Given the description of an element on the screen output the (x, y) to click on. 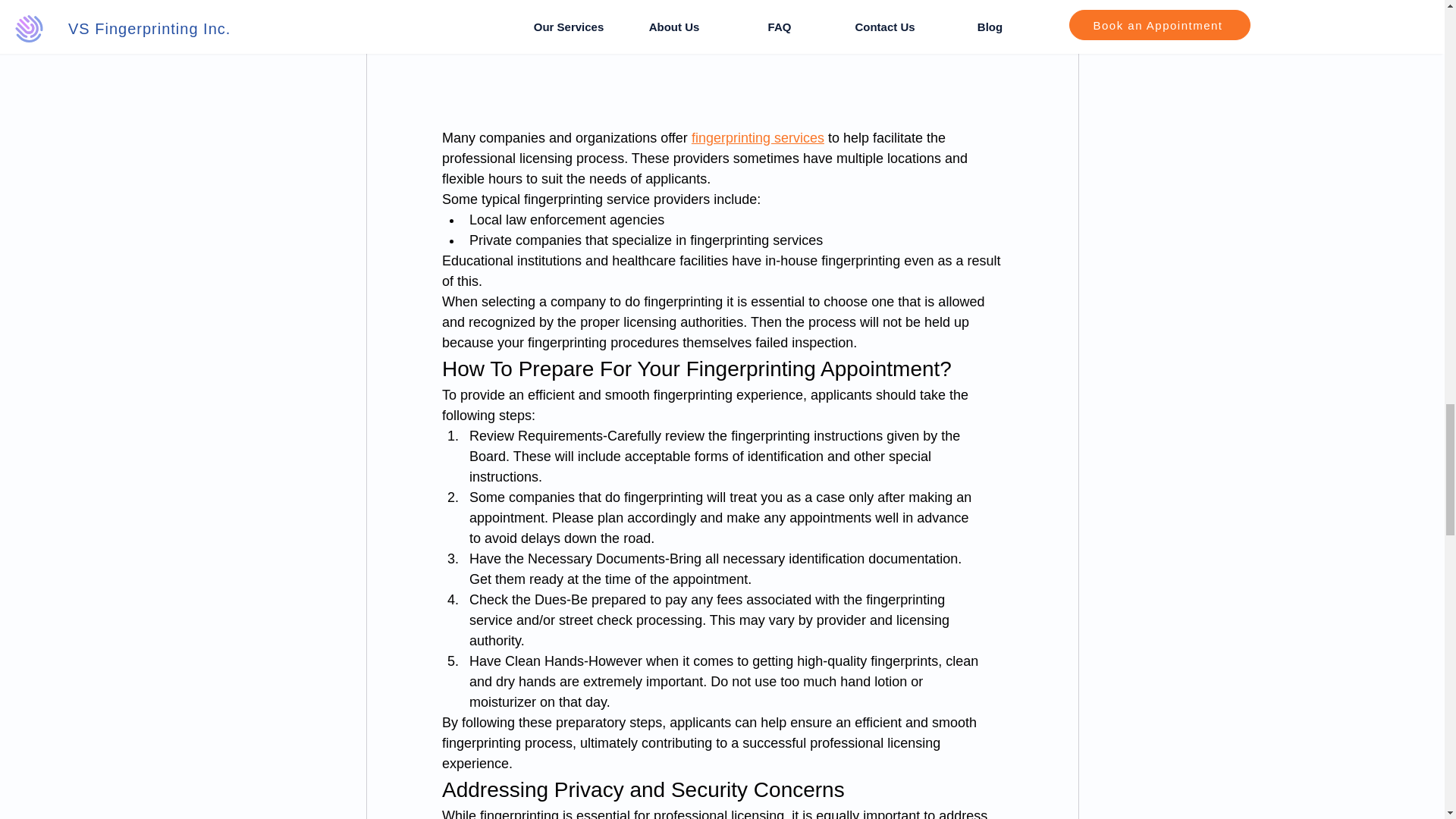
fingerprinting services (757, 137)
